Given the description of an element on the screen output the (x, y) to click on. 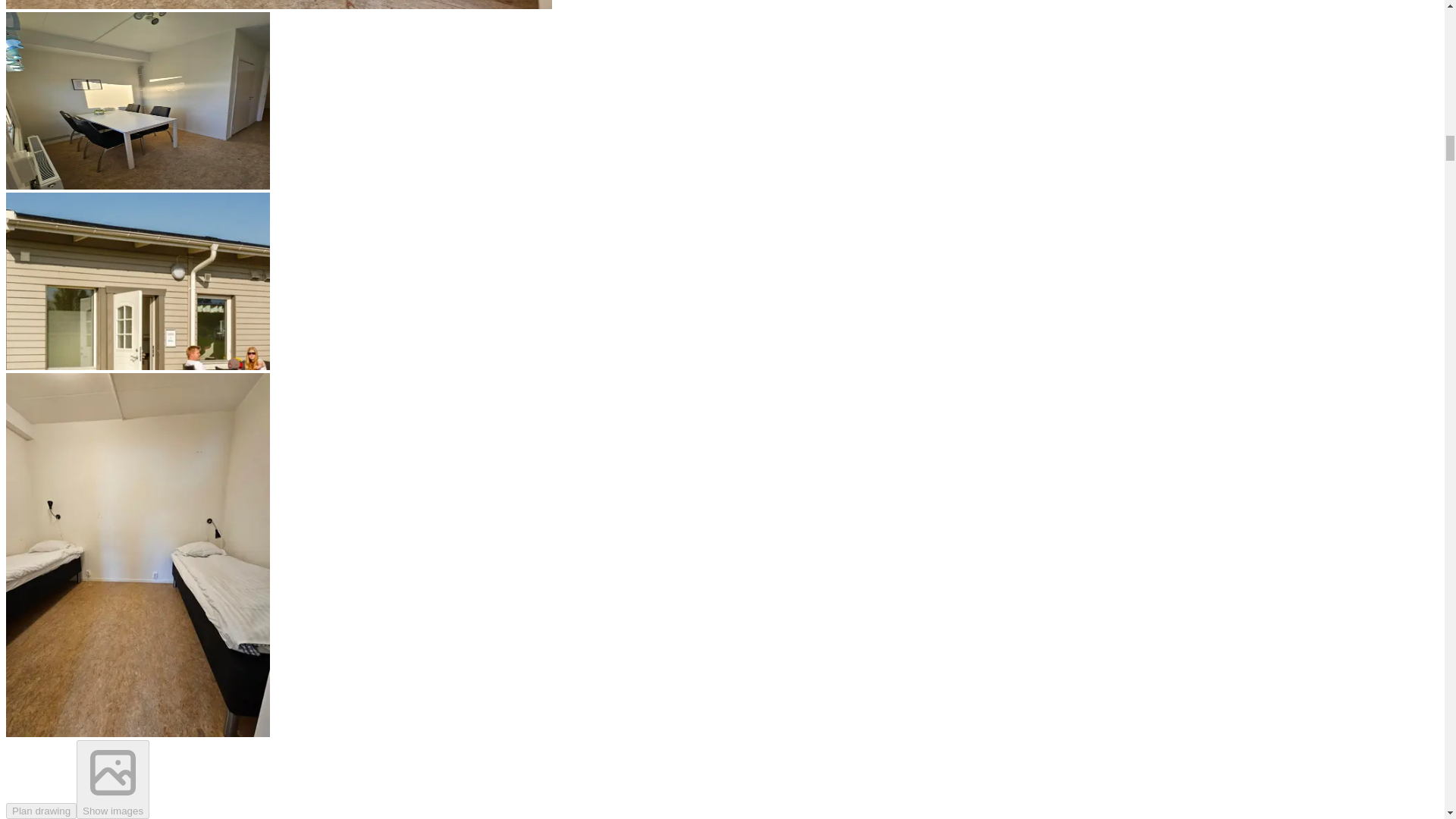
Show images (113, 779)
Plan drawing (41, 811)
